Given the description of an element on the screen output the (x, y) to click on. 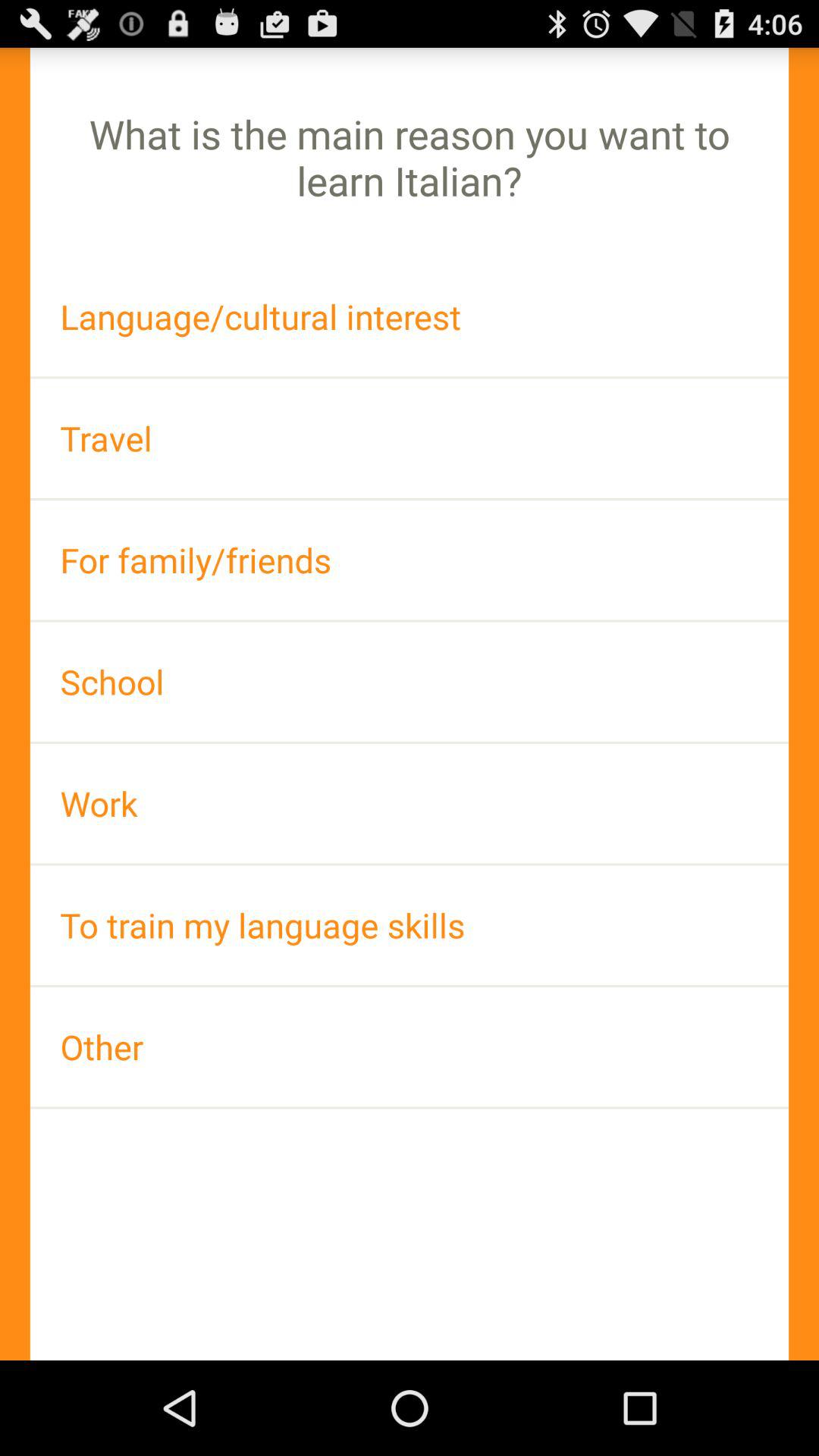
click the item below travel (409, 559)
